Given the description of an element on the screen output the (x, y) to click on. 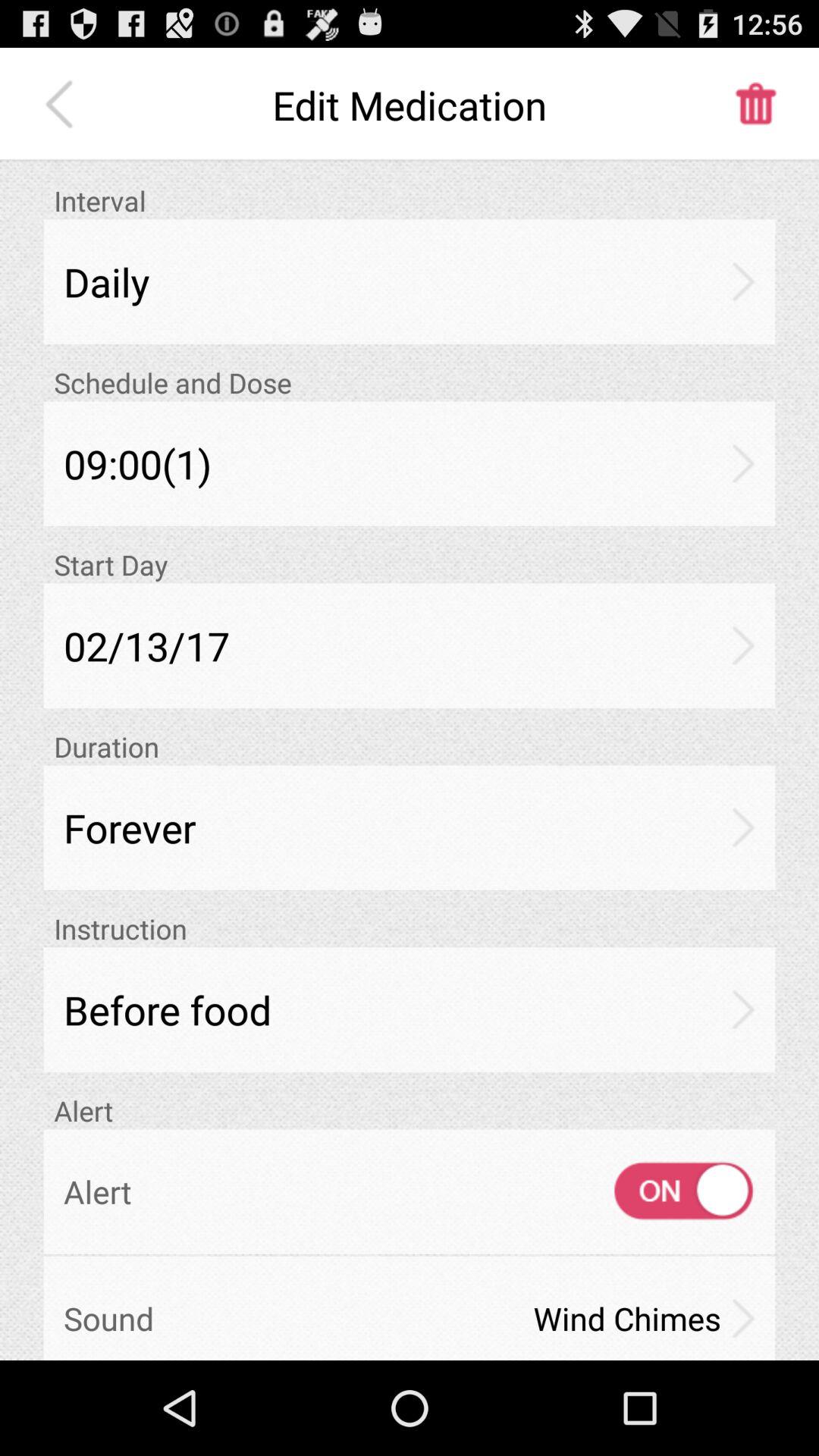
launch 09:00(1) (409, 463)
